Given the description of an element on the screen output the (x, y) to click on. 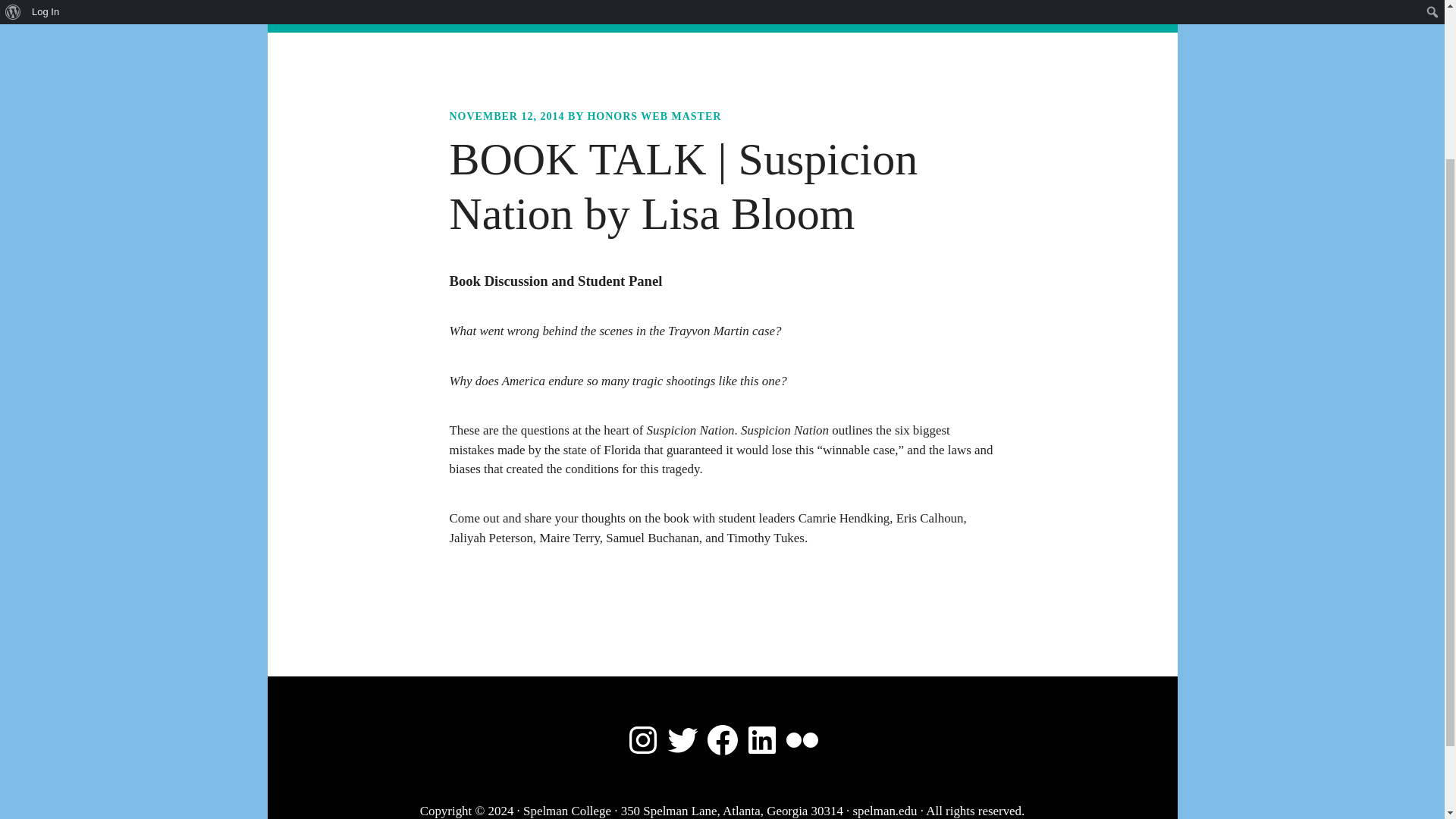
Student Resources (575, 16)
Twitter (681, 739)
Honors Alumnae (835, 16)
LinkedIn (762, 739)
Admissions (465, 16)
Instagram (642, 739)
FAQ (749, 16)
Flickr (802, 739)
Home (334, 16)
About (389, 16)
HONORS WEB MASTER (653, 116)
OnFeature (680, 16)
Make a Gift (940, 16)
Facebook (721, 739)
